Given the description of an element on the screen output the (x, y) to click on. 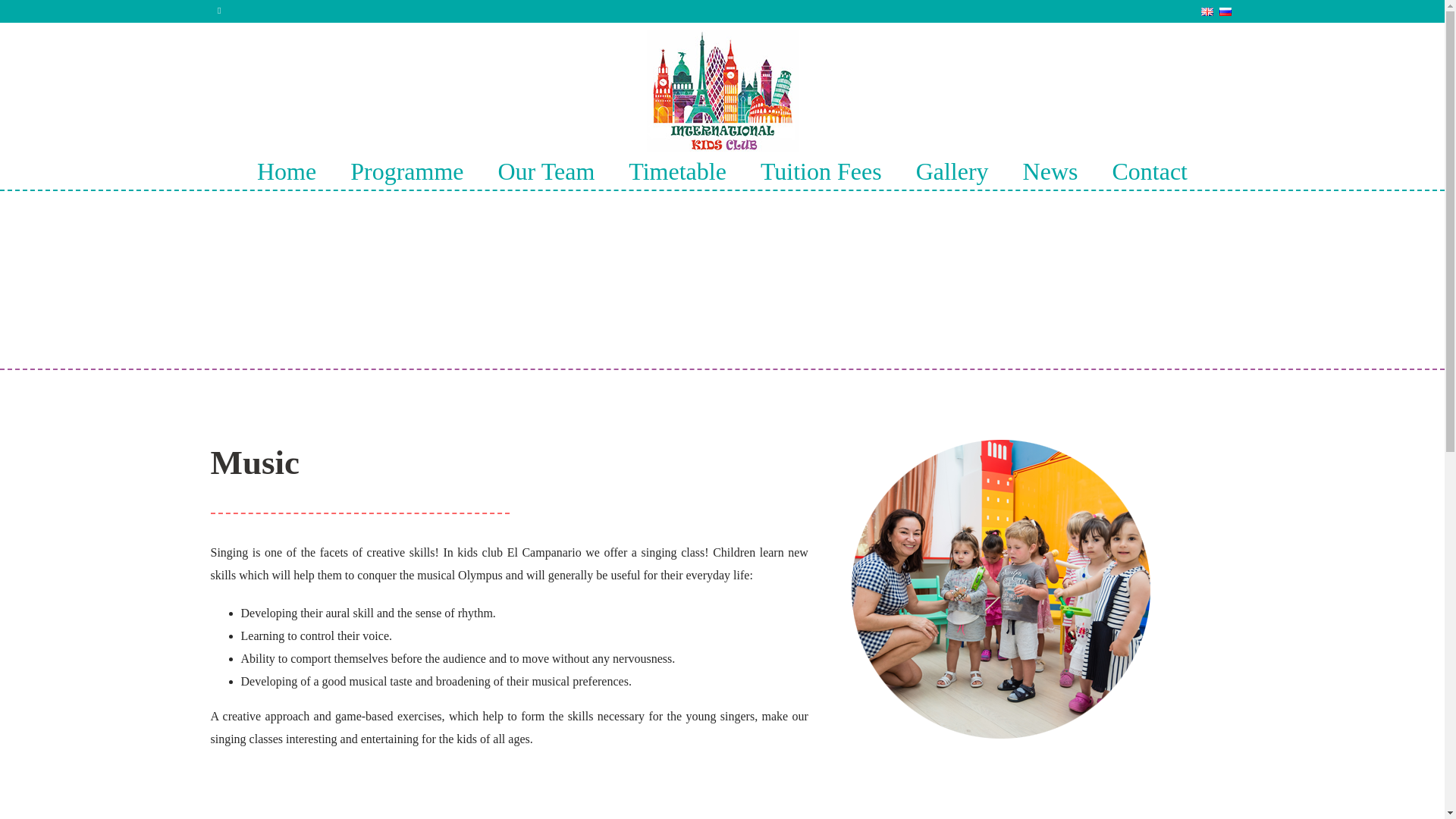
Timetable (677, 171)
Home (286, 171)
Contact (1149, 171)
Tuition Fees (820, 171)
Programme (406, 171)
News (1050, 171)
Instagram (218, 10)
music-lessons (1000, 589)
Gallery (952, 171)
Our Team (545, 171)
Instagram (218, 10)
